Given the description of an element on the screen output the (x, y) to click on. 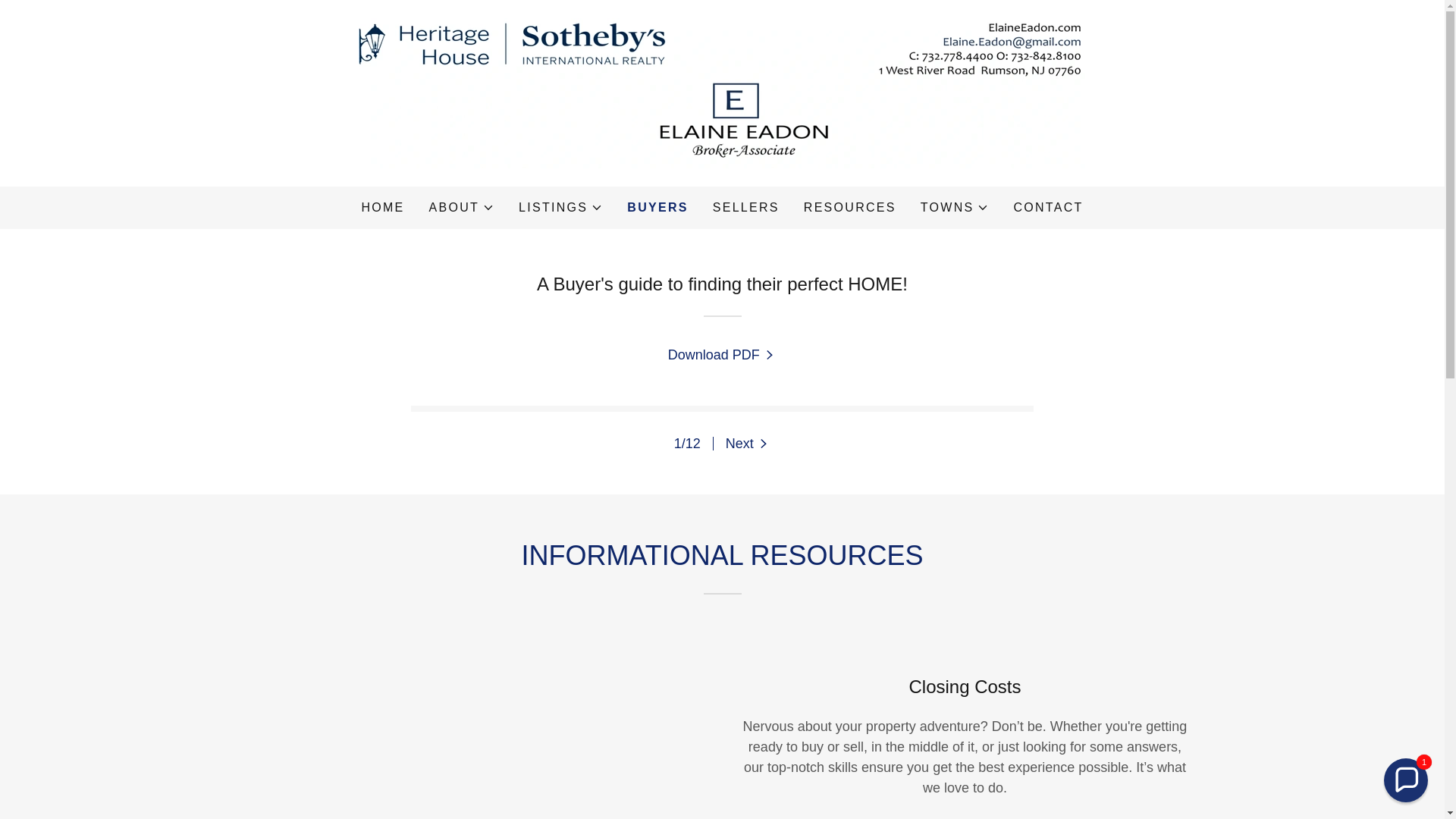
RESOURCES (850, 207)
BUYERS (657, 208)
HOME (382, 207)
ABOUT (462, 208)
CONTACT (1048, 207)
SELLERS (745, 207)
TOWNS (955, 208)
LISTINGS (560, 208)
Re:amaze Chat (1298, 670)
